Given the description of an element on the screen output the (x, y) to click on. 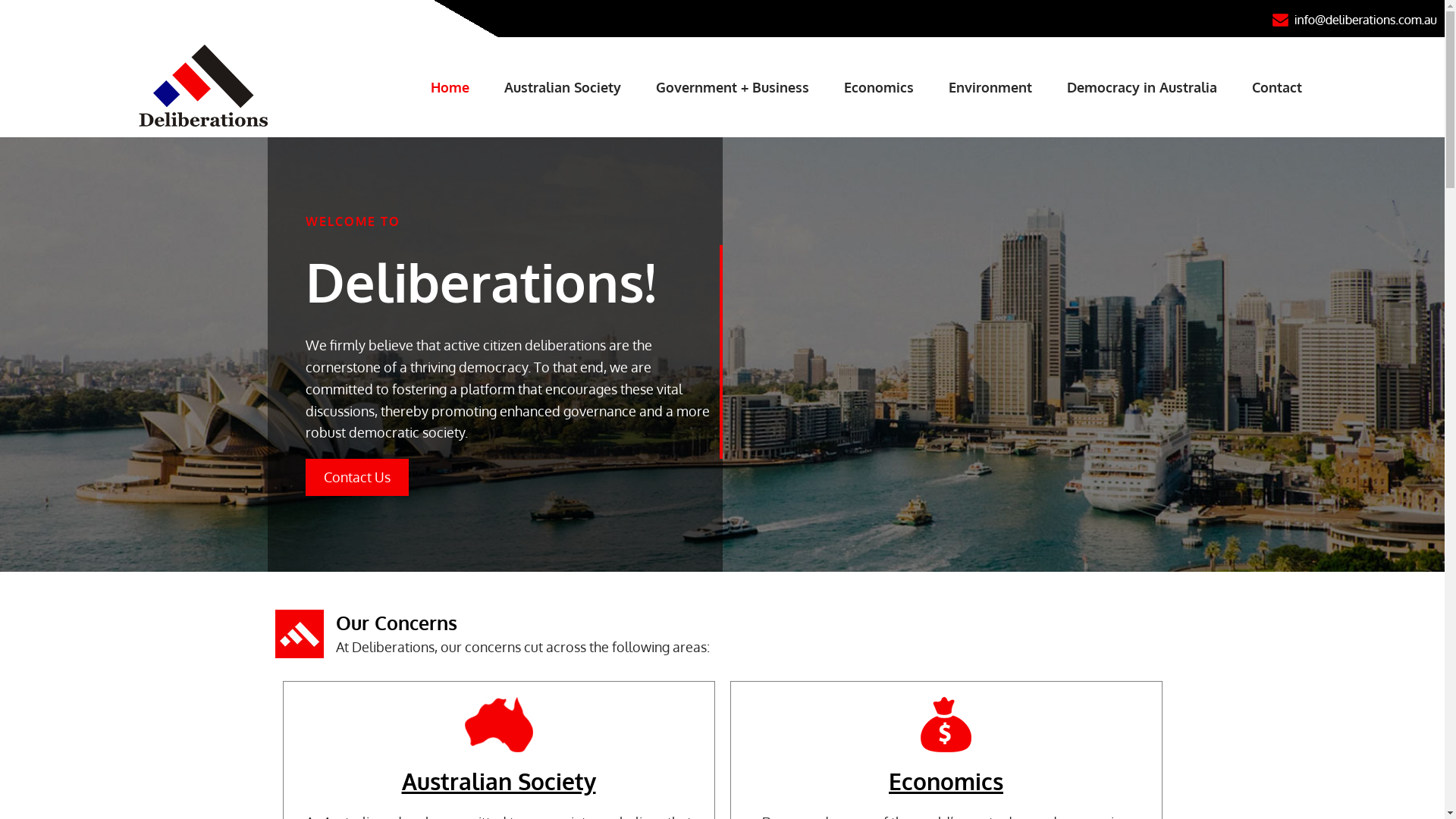
Government + Business Element type: text (732, 86)
Democracy in Australia Element type: text (1141, 86)
Home Element type: text (449, 86)
Australian Society Element type: text (562, 86)
Environment Element type: text (990, 86)
Contact Us Element type: text (355, 476)
Contact Element type: text (1276, 86)
Economics Element type: text (878, 86)
